Given the description of an element on the screen output the (x, y) to click on. 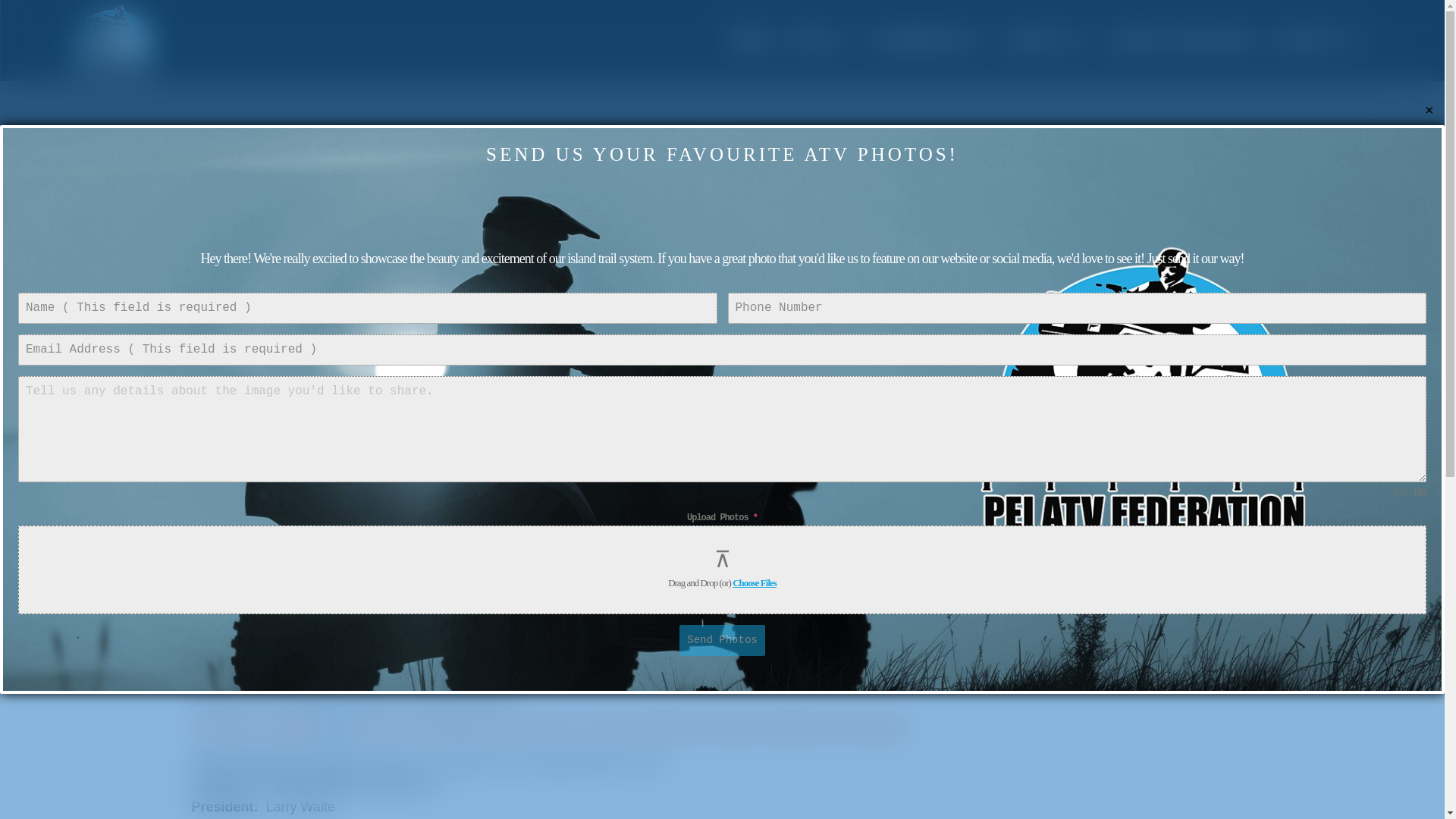
INFORMATION (931, 40)
ABOUT US (1051, 40)
Tignish Sportman Riders (721, 620)
Tignish Sportman Riders (456, 620)
PEI ATV Federation Facebook Page (986, 620)
MENTAL WELLNESS (1184, 40)
